Given the description of an element on the screen output the (x, y) to click on. 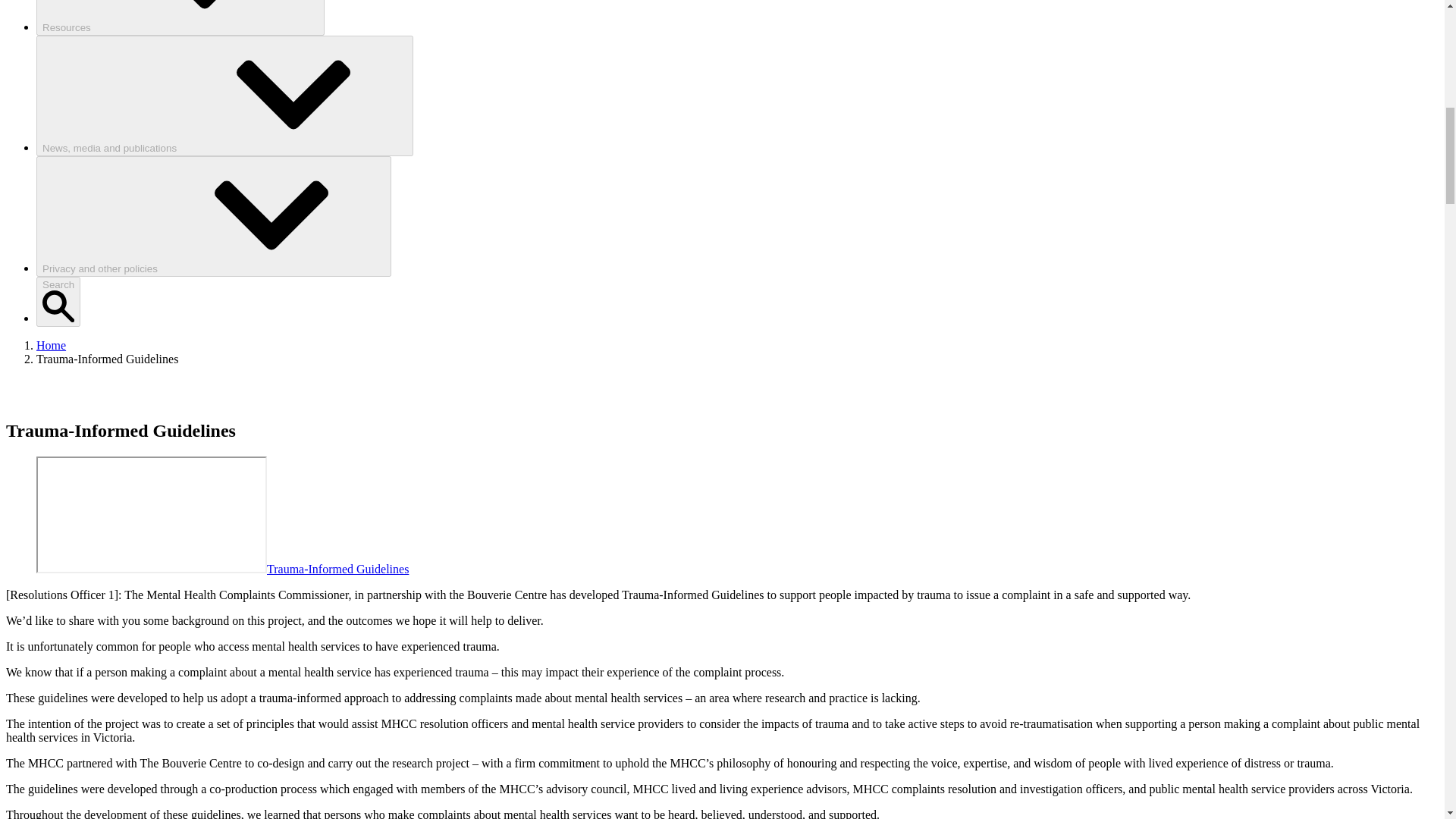
Trauma-Informed Guidelines (337, 568)
Trauma-Informed Guidelines (151, 514)
Home (50, 345)
